Given the description of an element on the screen output the (x, y) to click on. 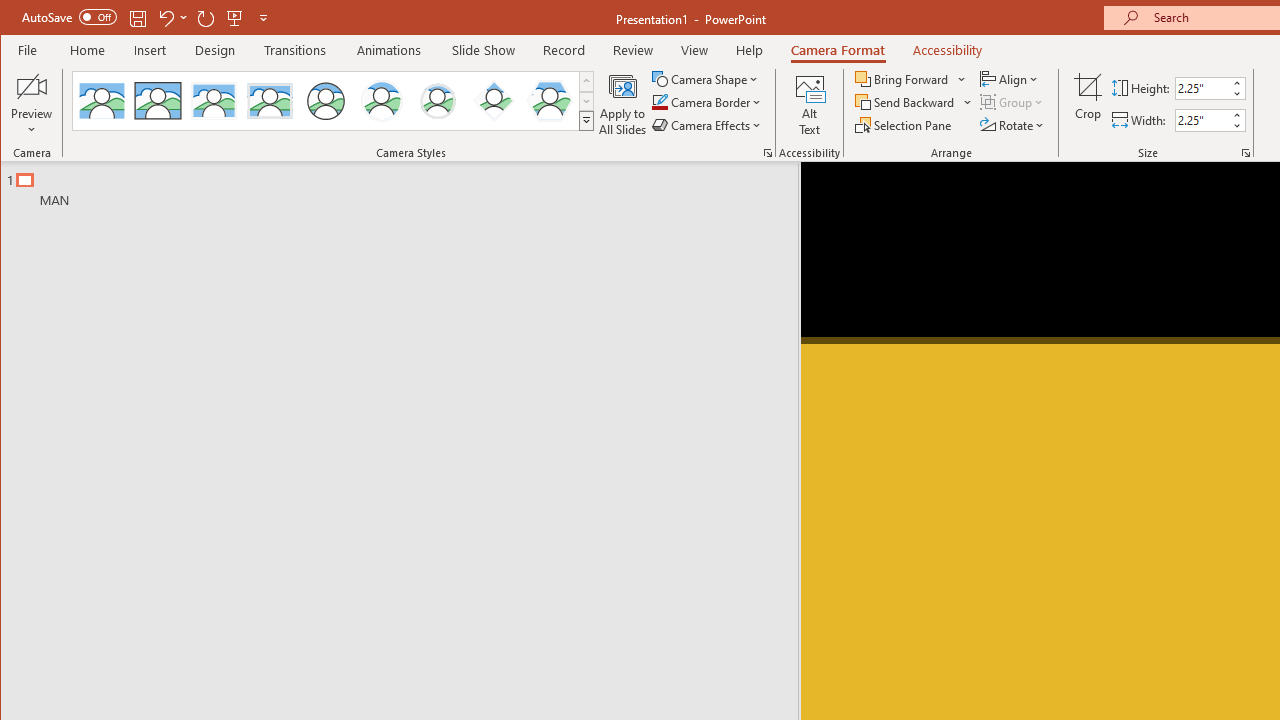
Camera Border Blue, Accent 1 (659, 101)
Group (1012, 101)
Send Backward (914, 101)
Send Backward (906, 101)
Selection Pane... (904, 124)
Camera Format (838, 50)
Camera Border (706, 101)
